Given the description of an element on the screen output the (x, y) to click on. 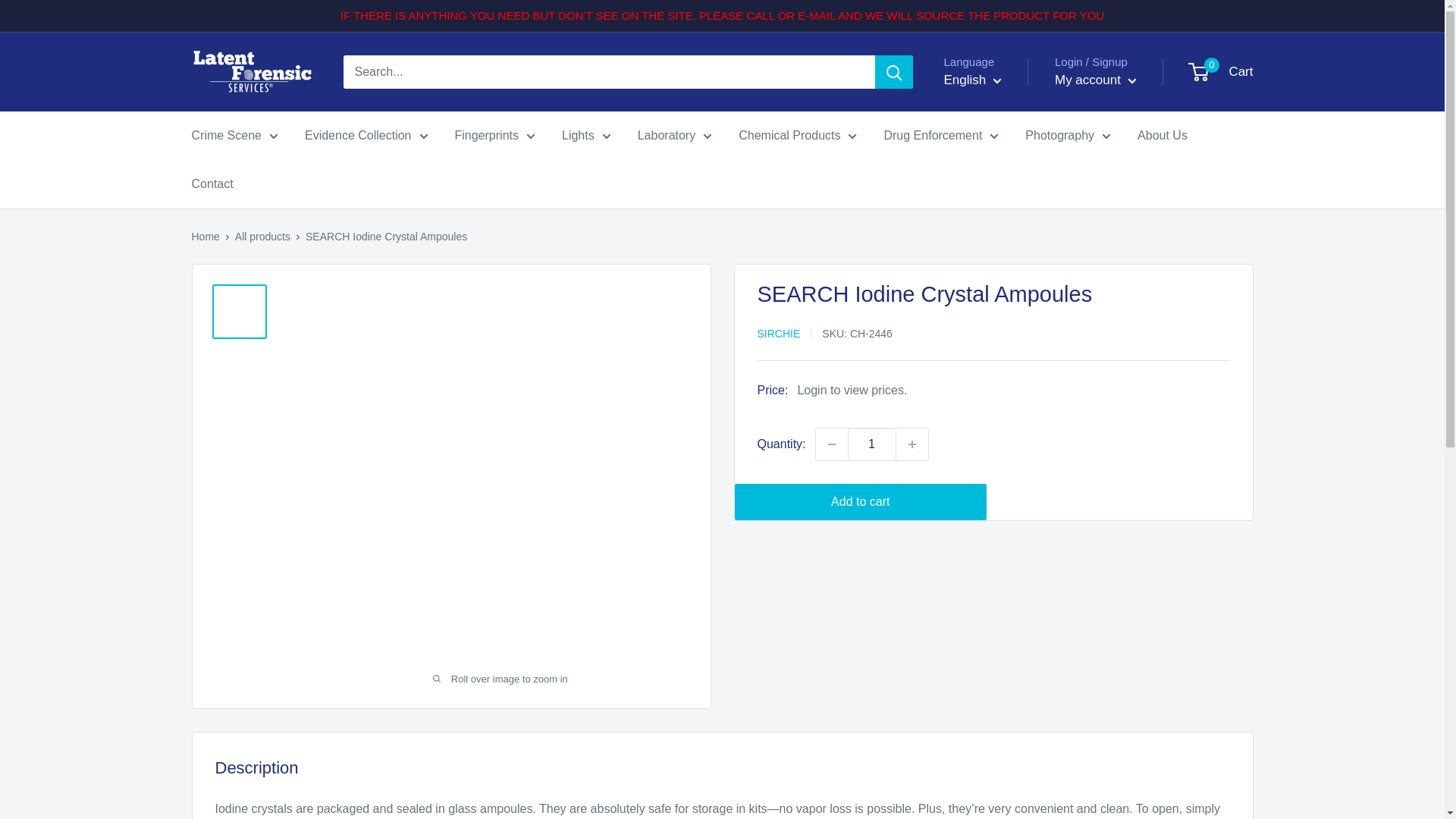
1 (871, 444)
Increase quantity by 1 (912, 444)
Decrease quantity by 1 (831, 444)
